Given the description of an element on the screen output the (x, y) to click on. 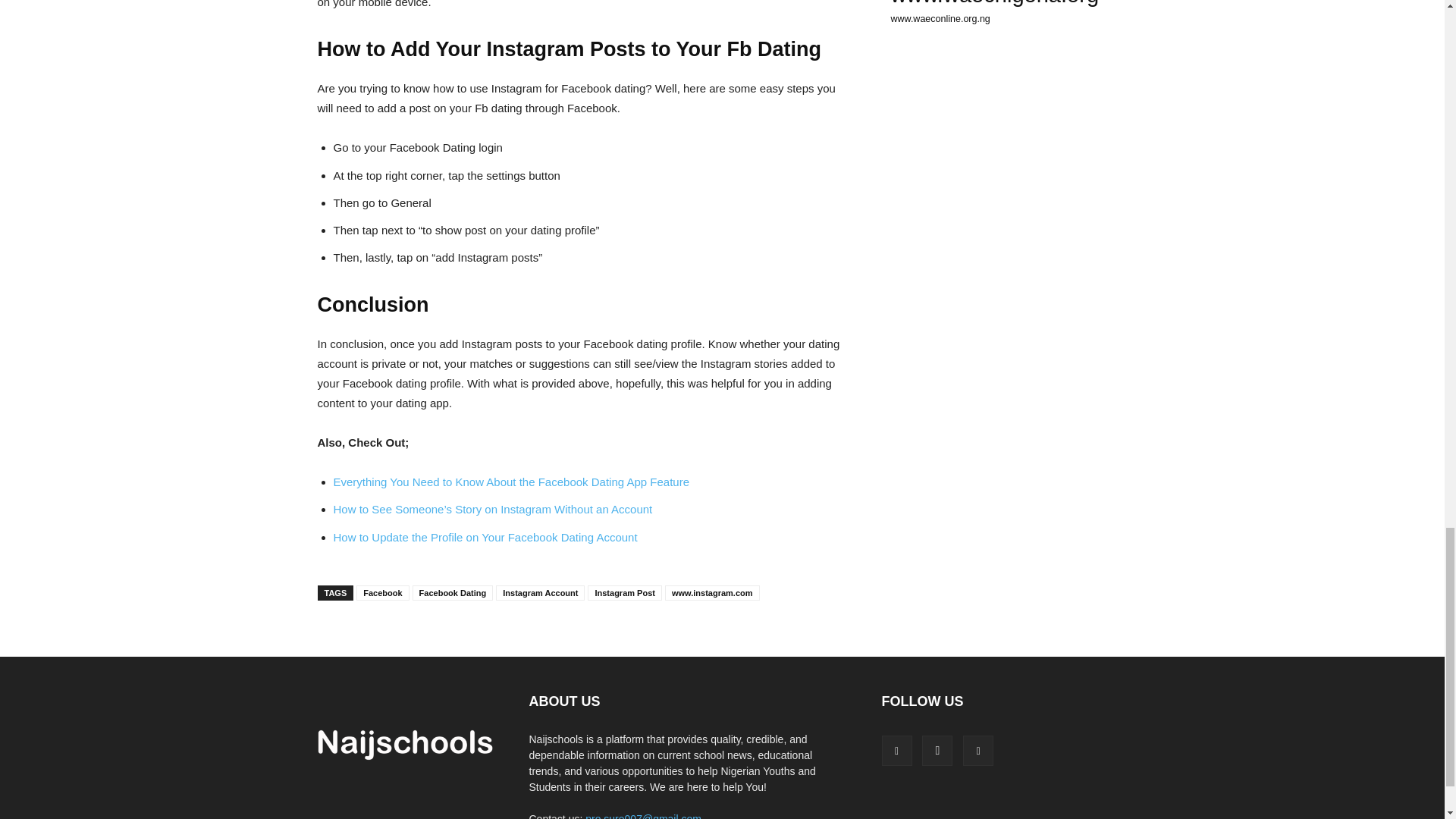
Facebook (895, 750)
Instagram (936, 750)
Twitter (977, 750)
